Given the description of an element on the screen output the (x, y) to click on. 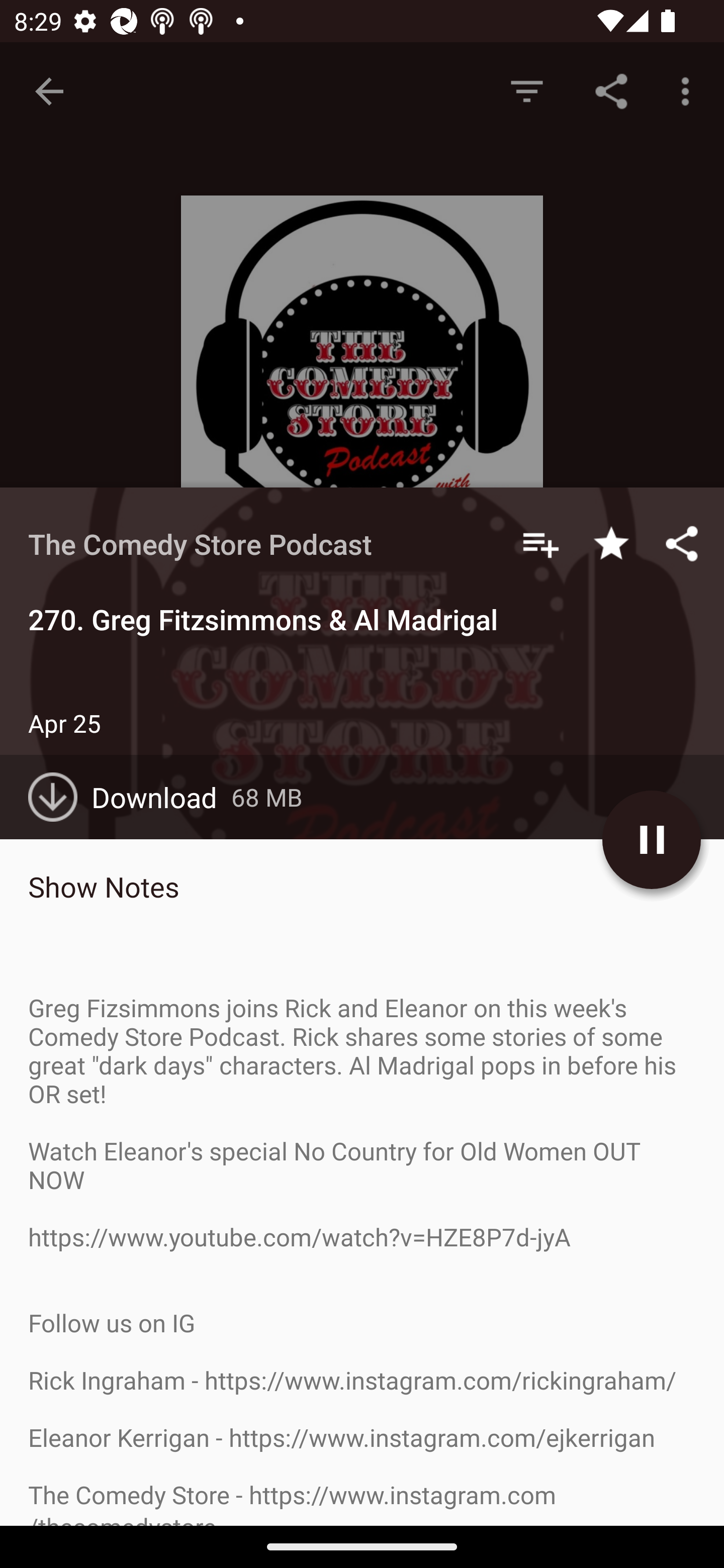
Navigate up (49, 91)
Hide Episodes (526, 90)
Share Link (611, 90)
More options (688, 90)
Download (129, 797)
Apr 18 269. Jeff Danis Download 105 MB (362, 885)
Apr 11 268. Fahim Anwar Download 54 MB (362, 998)
Mar 28 266. Kevin Christy Download 145 MB (362, 1224)
